Given the description of an element on the screen output the (x, y) to click on. 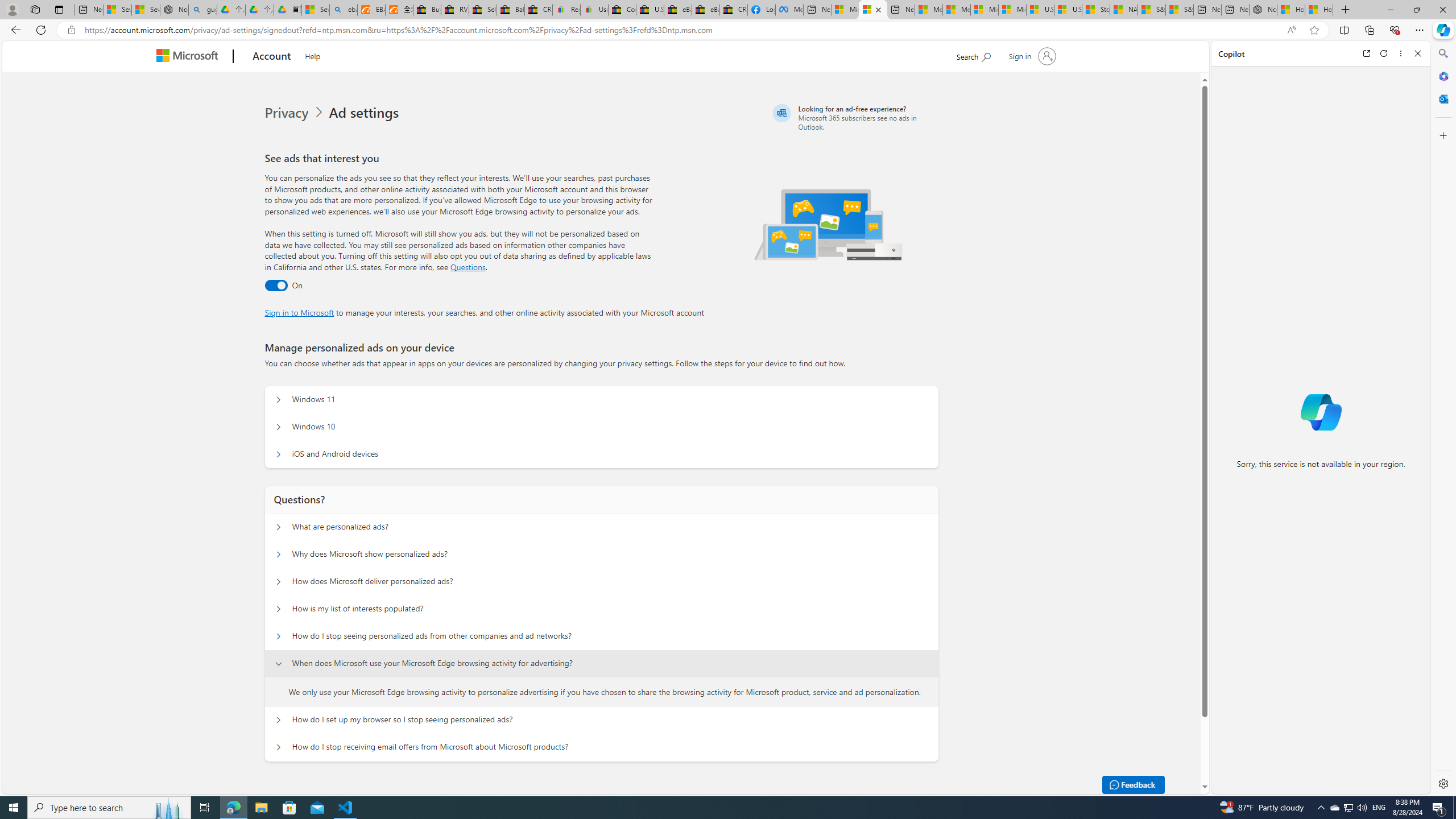
Meta Store (789, 9)
Account (272, 56)
Consumer Health Data Privacy Policy - eBay Inc. (621, 9)
